Given the description of an element on the screen output the (x, y) to click on. 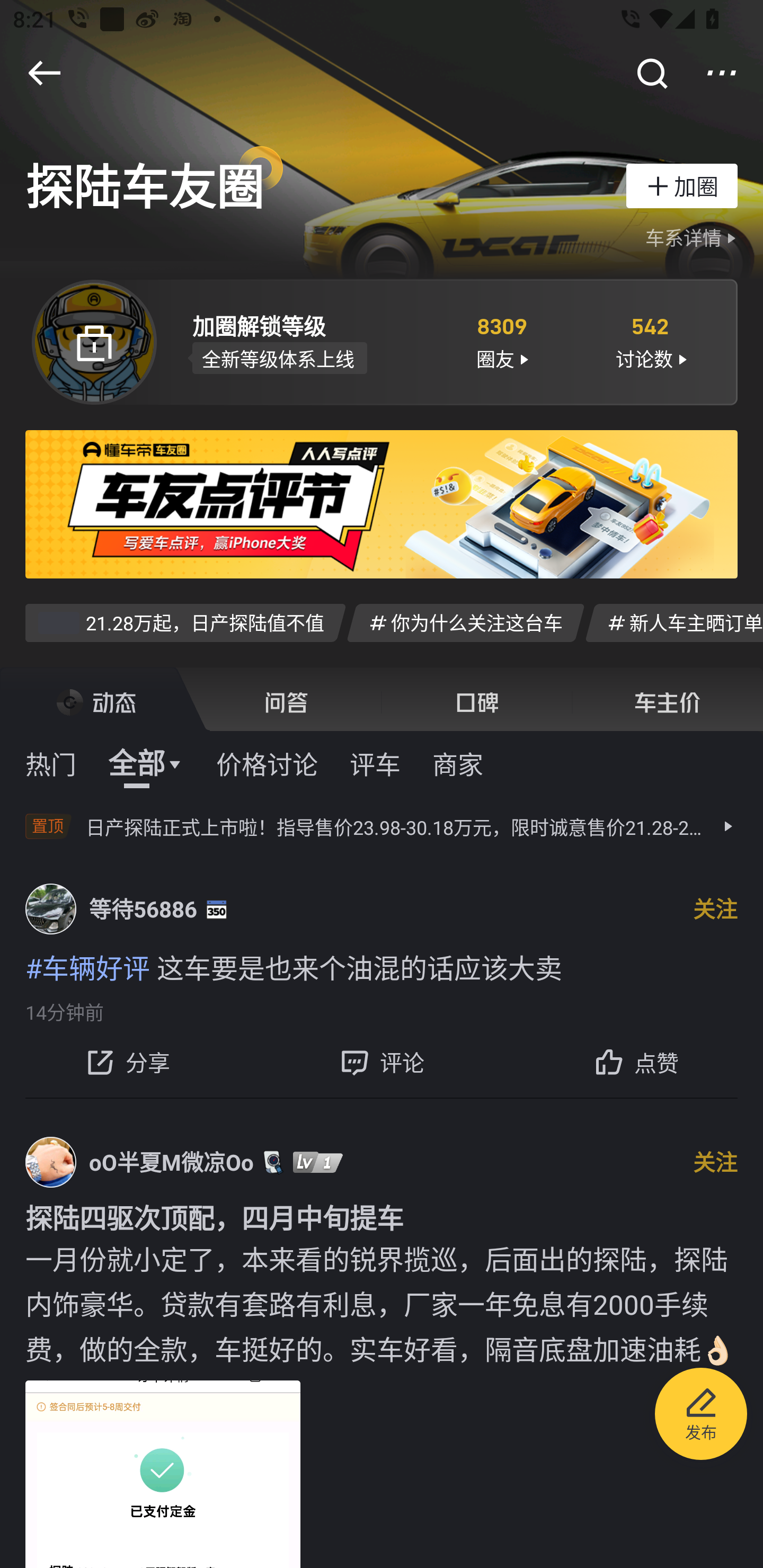
 (44, 72)
 (651, 72)
 (721, 72)
车系详情 (692, 238)
加圈解锁等级 全新等级体系上线 (307, 341)
8309 圈友 (501, 341)
542 讨论数 (650, 341)
打卡 21.28万起，日产探陆值不值 (185, 622)
 你为什么关注这台车 (465, 622)
 新人车主晒订单 (674, 622)
热门 (50, 762)
全部  (146, 762)
价格讨论 (266, 762)
评车 (374, 762)
商家 (457, 762)
关注 (714, 909)
等待56886 (142, 909)
#车辆好评 这车要是也来个油混的话应该大卖 (381, 966)
 分享 (127, 1062)
 评论 (381, 1062)
点赞 (635, 1062)
关注 (714, 1161)
oO半夏M微凉Oo (171, 1161)
 发布 (701, 1416)
